Given the description of an element on the screen output the (x, y) to click on. 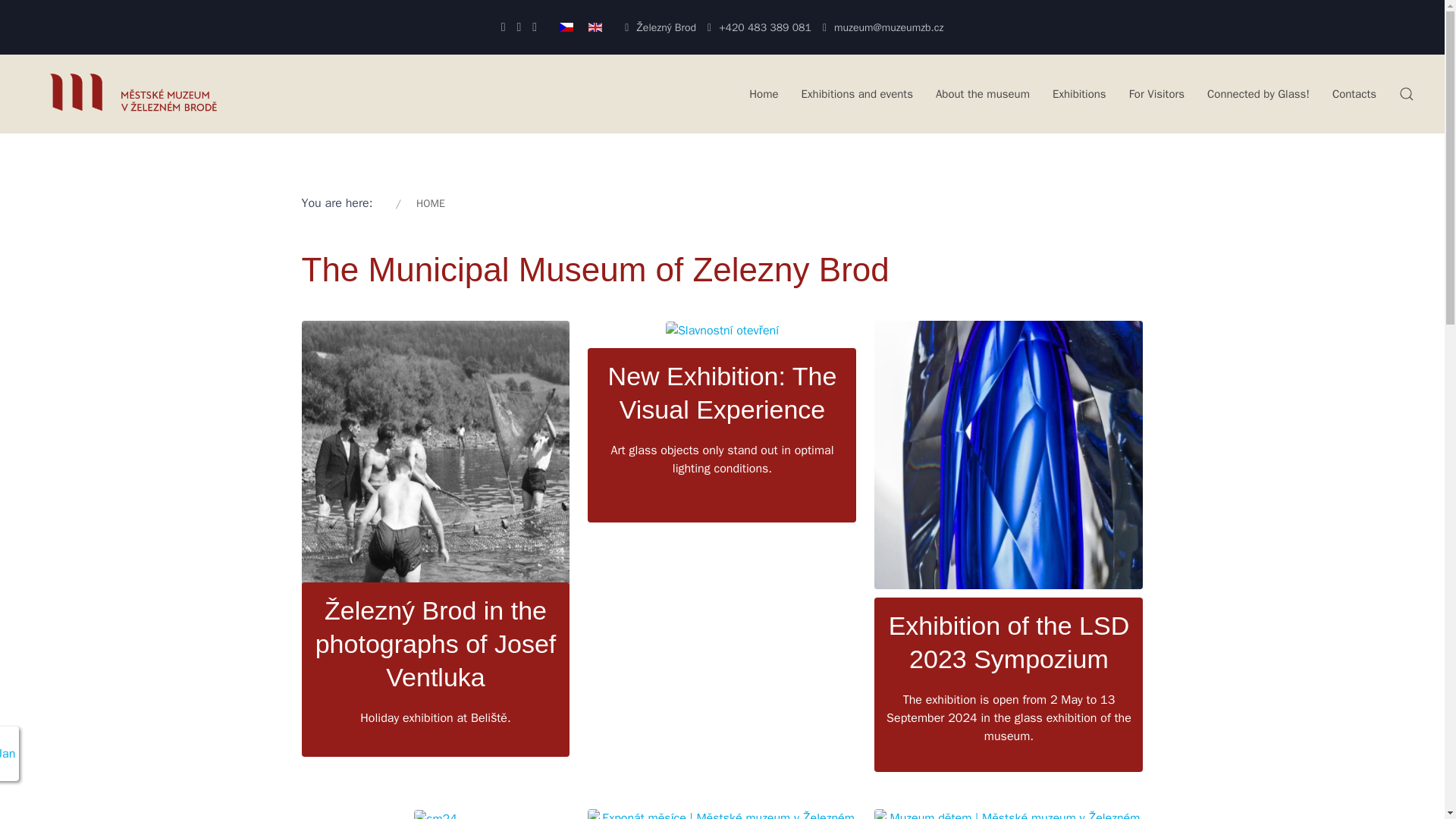
For Visitors (1156, 93)
Exhibitions and events (857, 93)
Exhibitions (1079, 93)
Home (763, 93)
About the museum (982, 93)
